Given the description of an element on the screen output the (x, y) to click on. 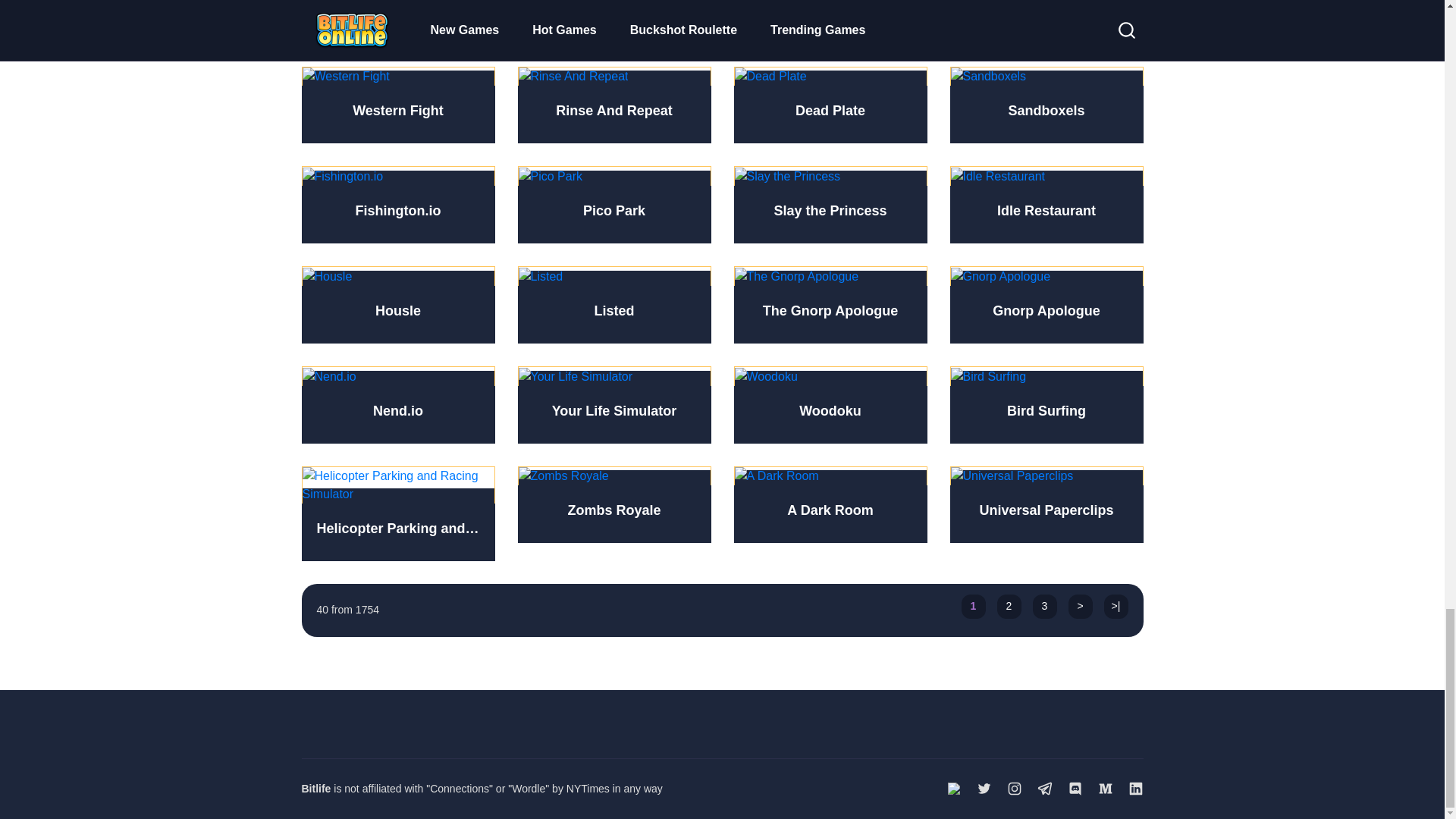
Lows Adventures 3 (1045, 22)
War Of Gun (398, 22)
WW1 Battle Simulator (830, 22)
Raccoon Retail (613, 22)
Western Fight (398, 105)
